Given the description of an element on the screen output the (x, y) to click on. 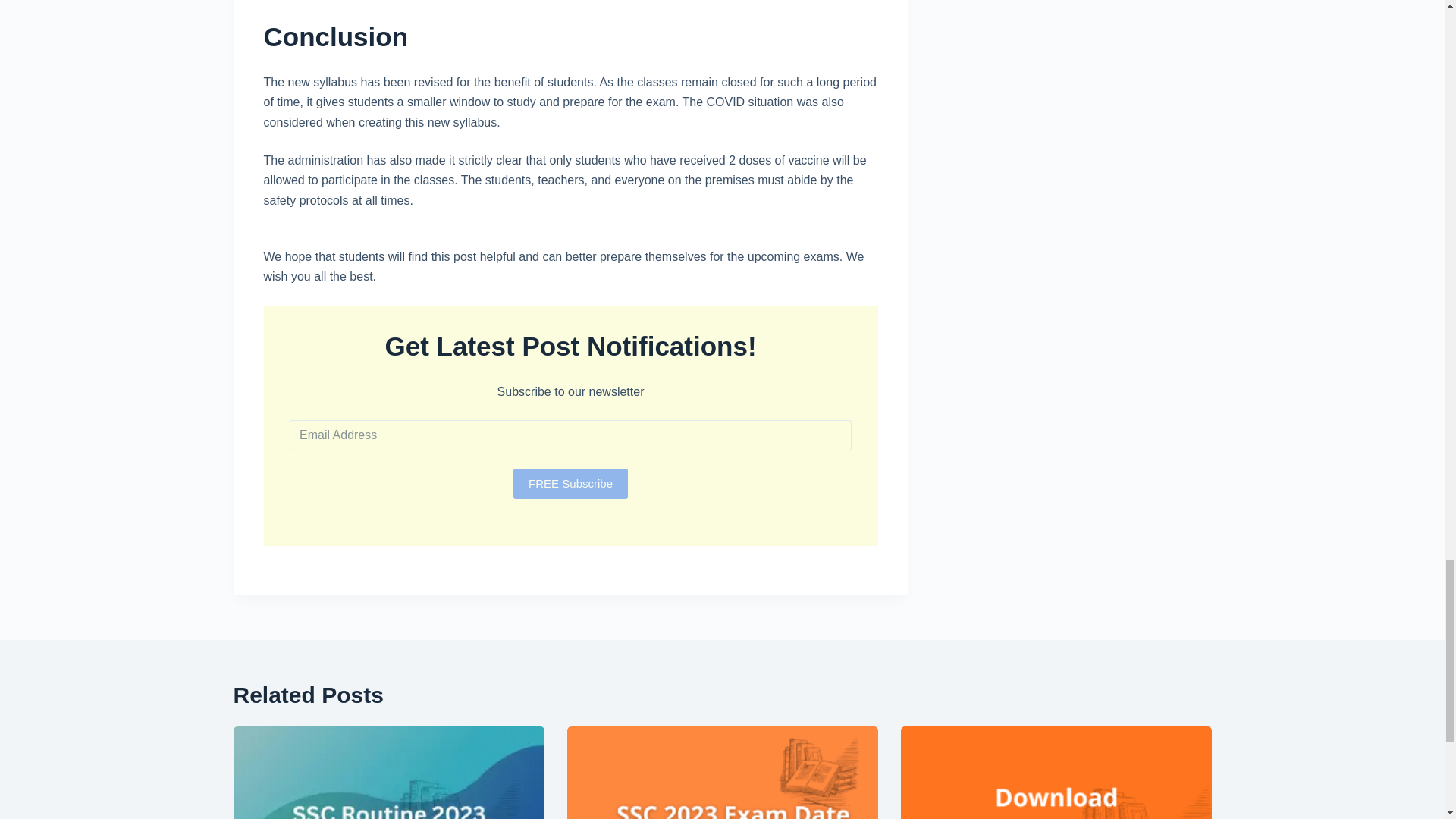
FREE Subscribe (570, 483)
